Given the description of an element on the screen output the (x, y) to click on. 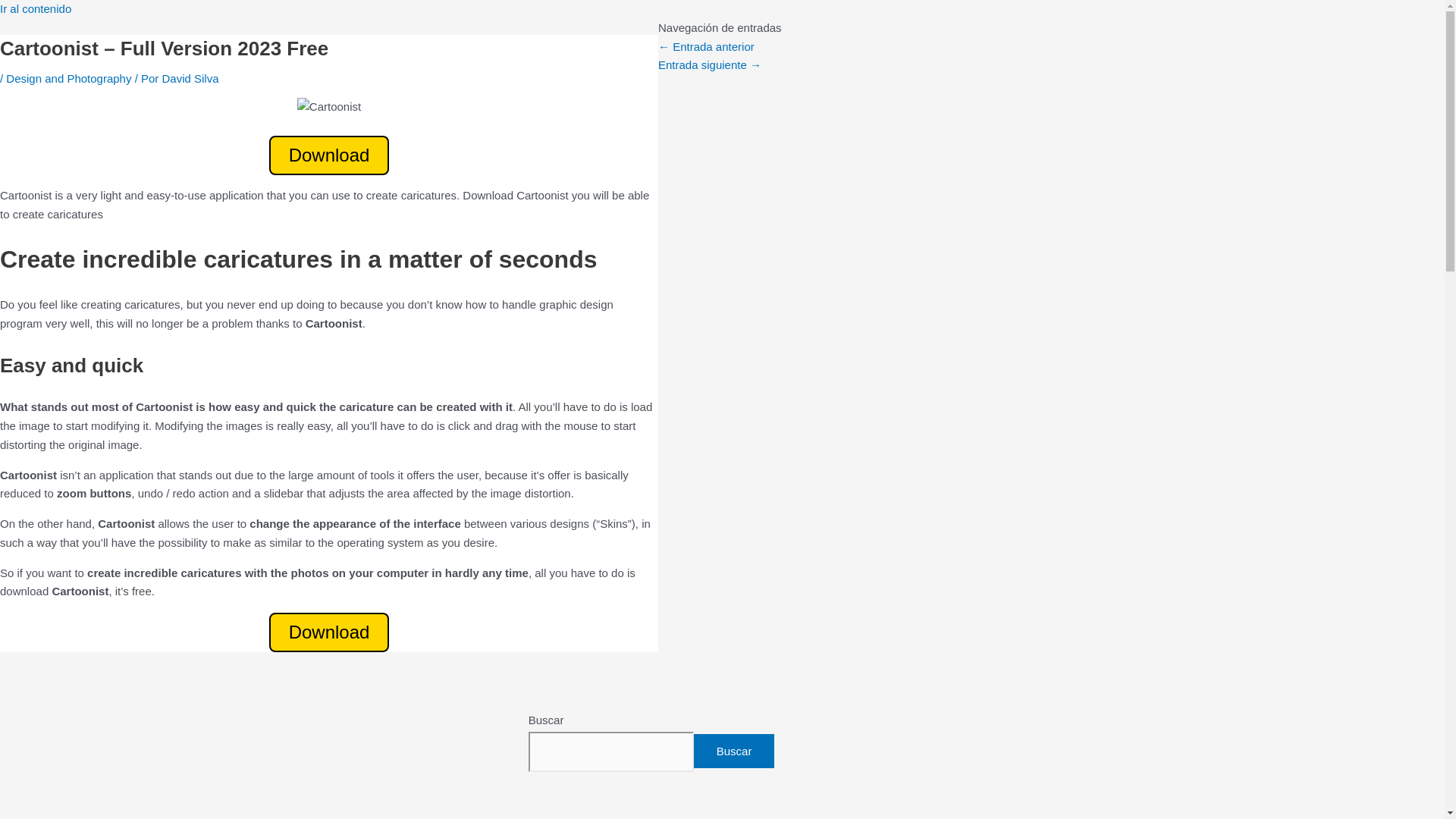
Ir al contenido (35, 8)
Design and Photography (68, 78)
Download (329, 155)
Ver todas las entradas de David Silva (189, 78)
Buscar (734, 750)
Ir al contenido (35, 8)
Download (329, 631)
MotionInJoy DS3 Tool - Full Version 2023 Free (706, 45)
David Silva (189, 78)
Super Mario World Deluxe - Full Version 2023 Free (709, 64)
Download (329, 634)
Download (329, 155)
